Given the description of an element on the screen output the (x, y) to click on. 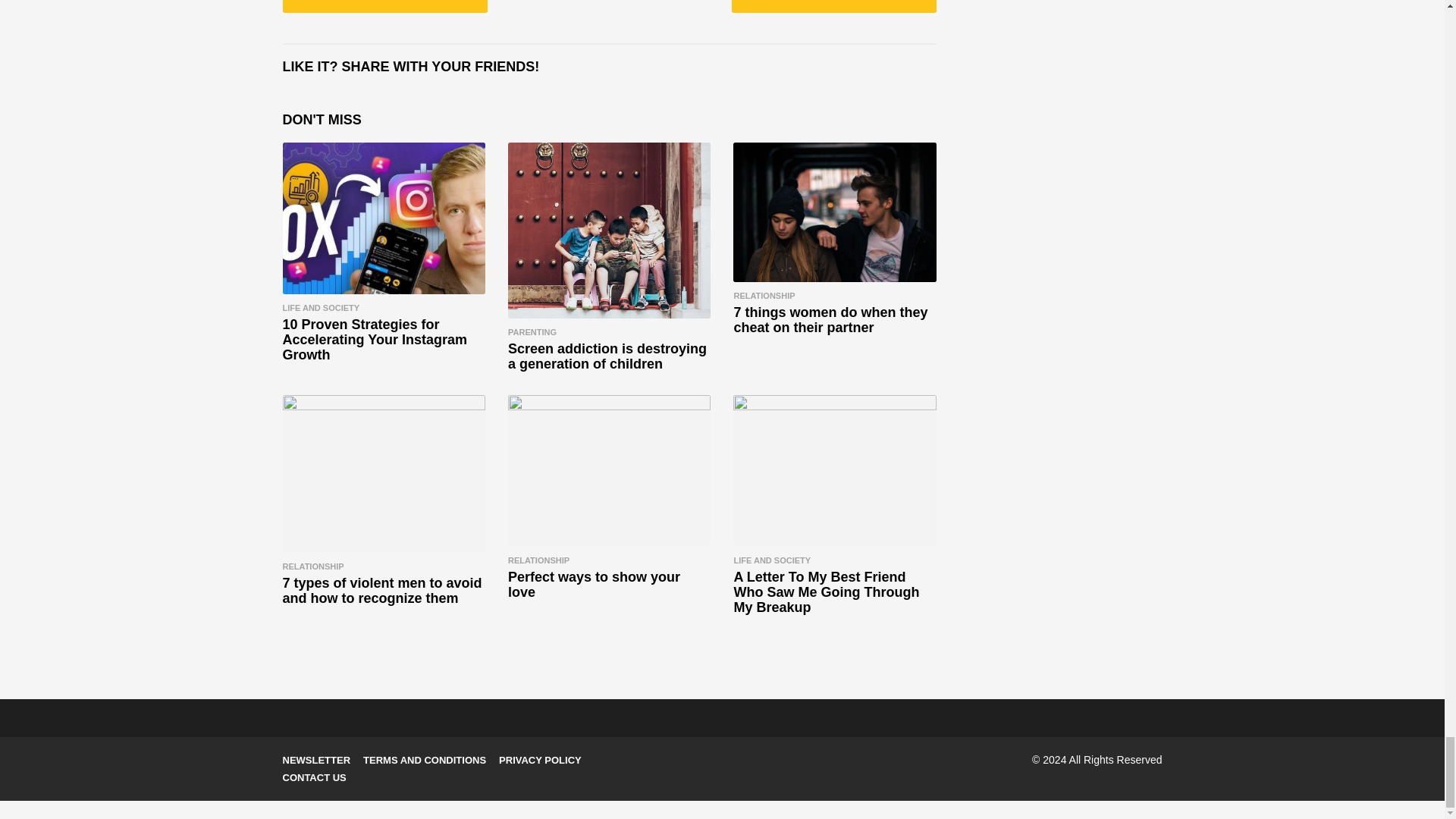
LIFE AND SOCIETY (320, 307)
7 types of violent men to avoid and how to recognize them (383, 473)
RELATIONSHIP (763, 295)
PREVIOUS POST (384, 6)
PARENTING (532, 331)
Screen addiction is destroying a generation of children (609, 230)
Perfect ways to show your love (609, 470)
7 things women do when they cheat on their partner (834, 211)
10 Proven Strategies for Accelerating Your Instagram Growth (383, 218)
Screen addiction is destroying a generation of children (607, 356)
10 Proven Strategies for Accelerating Your Instagram Growth (373, 339)
NEXT POST (834, 6)
